Given the description of an element on the screen output the (x, y) to click on. 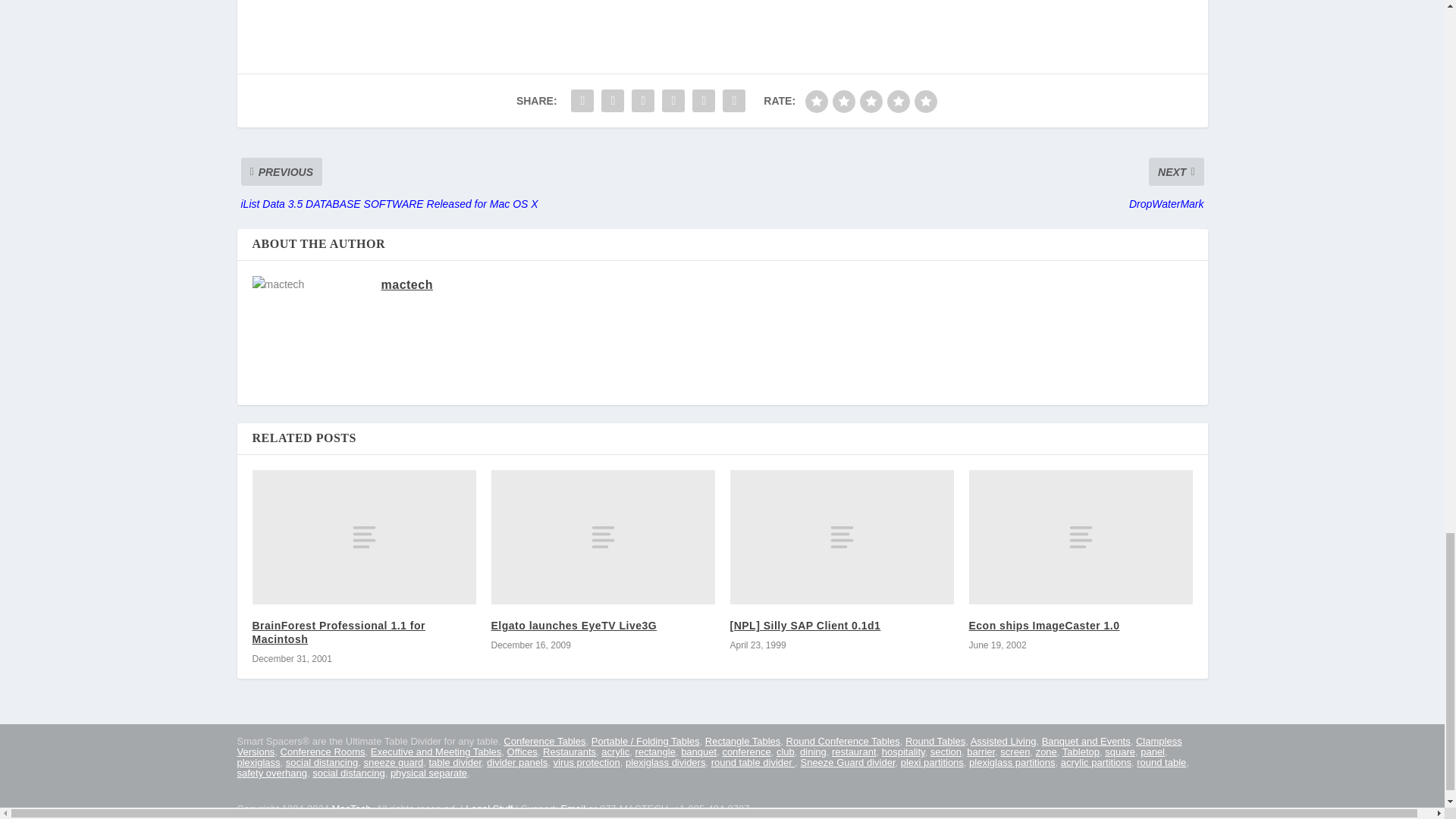
Share "VMware Fusion Beta 4" via LinkedIn (673, 100)
Share "VMware Fusion Beta 4" via Stumbleupon (703, 100)
Share "VMware Fusion Beta 4" via Twitter (611, 100)
Share "VMware Fusion Beta 4" via Tumblr (642, 100)
Share "VMware Fusion Beta 4" via Facebook (581, 100)
